Given the description of an element on the screen output the (x, y) to click on. 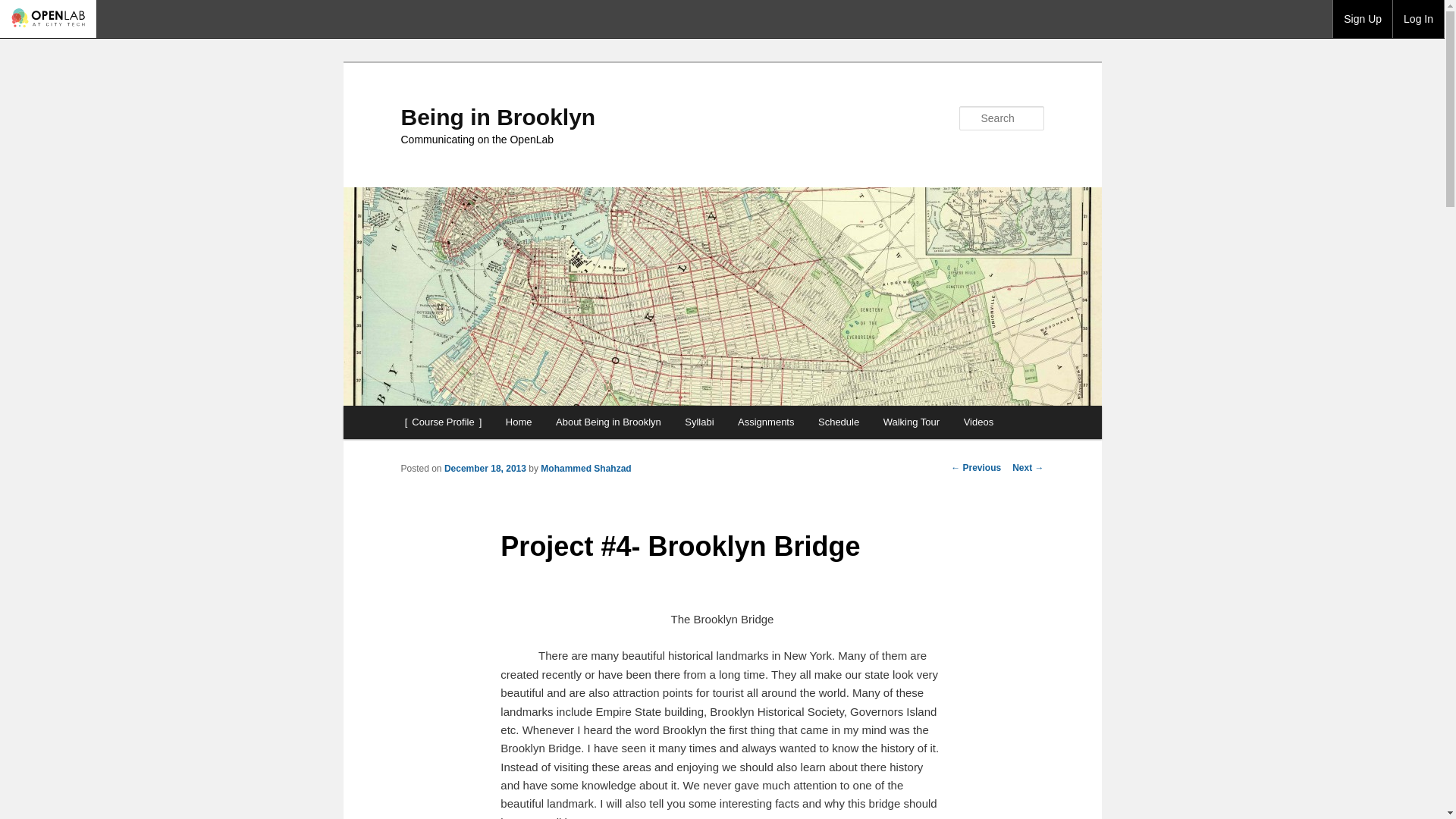
Home (518, 421)
1:00 am (484, 468)
Course Profile (443, 421)
Being in Brooklyn (497, 116)
Assignments (765, 421)
Syllabi (699, 421)
Walking Tour (911, 421)
Schedule (838, 421)
View all posts by Mohammed Shahzad (585, 468)
Search (24, 8)
About Being in Brooklyn (607, 421)
Sign Up (1362, 18)
